Given the description of an element on the screen output the (x, y) to click on. 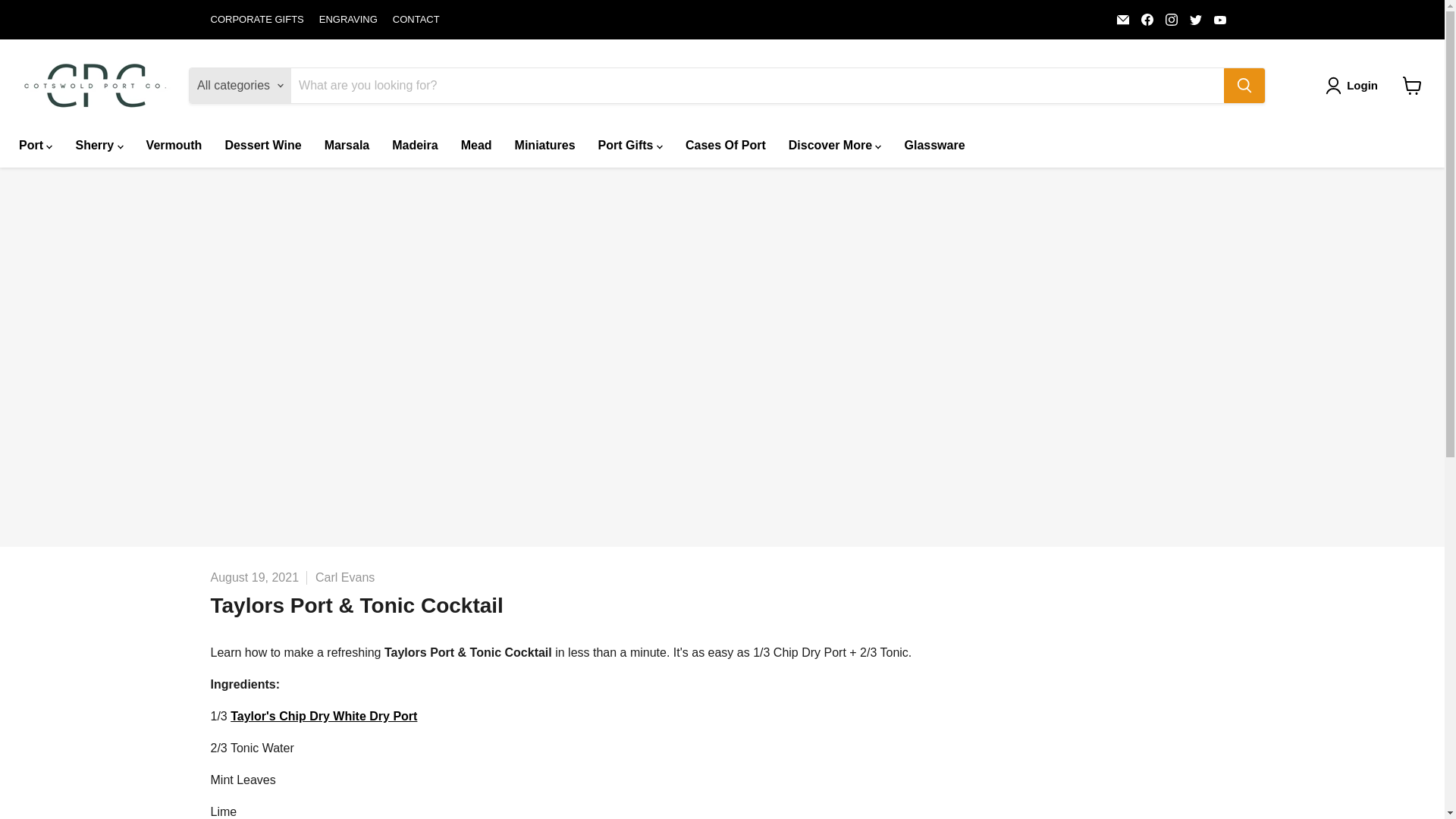
YouTube (1219, 19)
CORPORATE GIFTS (257, 19)
Email (1123, 19)
View cart (1411, 85)
CONTACT (416, 19)
Find us on Facebook (1147, 19)
Find us on Twitter (1196, 19)
ENGRAVING (347, 19)
Twitter (1196, 19)
Facebook (1147, 19)
